Given the description of an element on the screen output the (x, y) to click on. 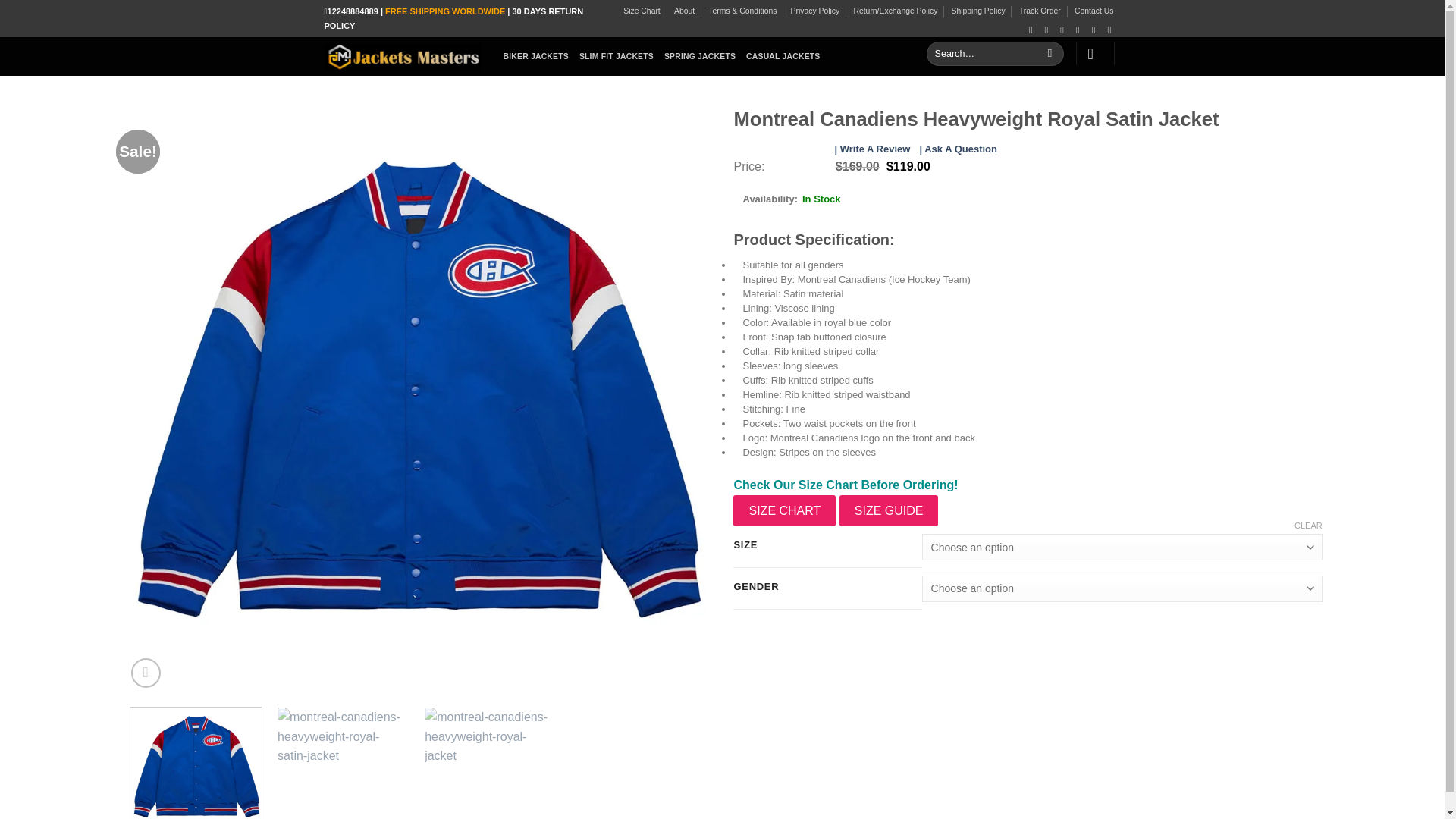
SPRING JACKETS (699, 56)
SLIM FIT JACKETS (616, 56)
About (684, 11)
BIKER JACKETS (536, 56)
Zoom (145, 672)
Shipping Policy (979, 11)
Track Order (1040, 11)
CASUAL JACKETS (782, 56)
Jackets Masters (402, 56)
Contact Us (1093, 11)
Size Chart (642, 11)
SIZE CHART (784, 511)
12248884889 (352, 10)
Search (1050, 53)
